Given the description of an element on the screen output the (x, y) to click on. 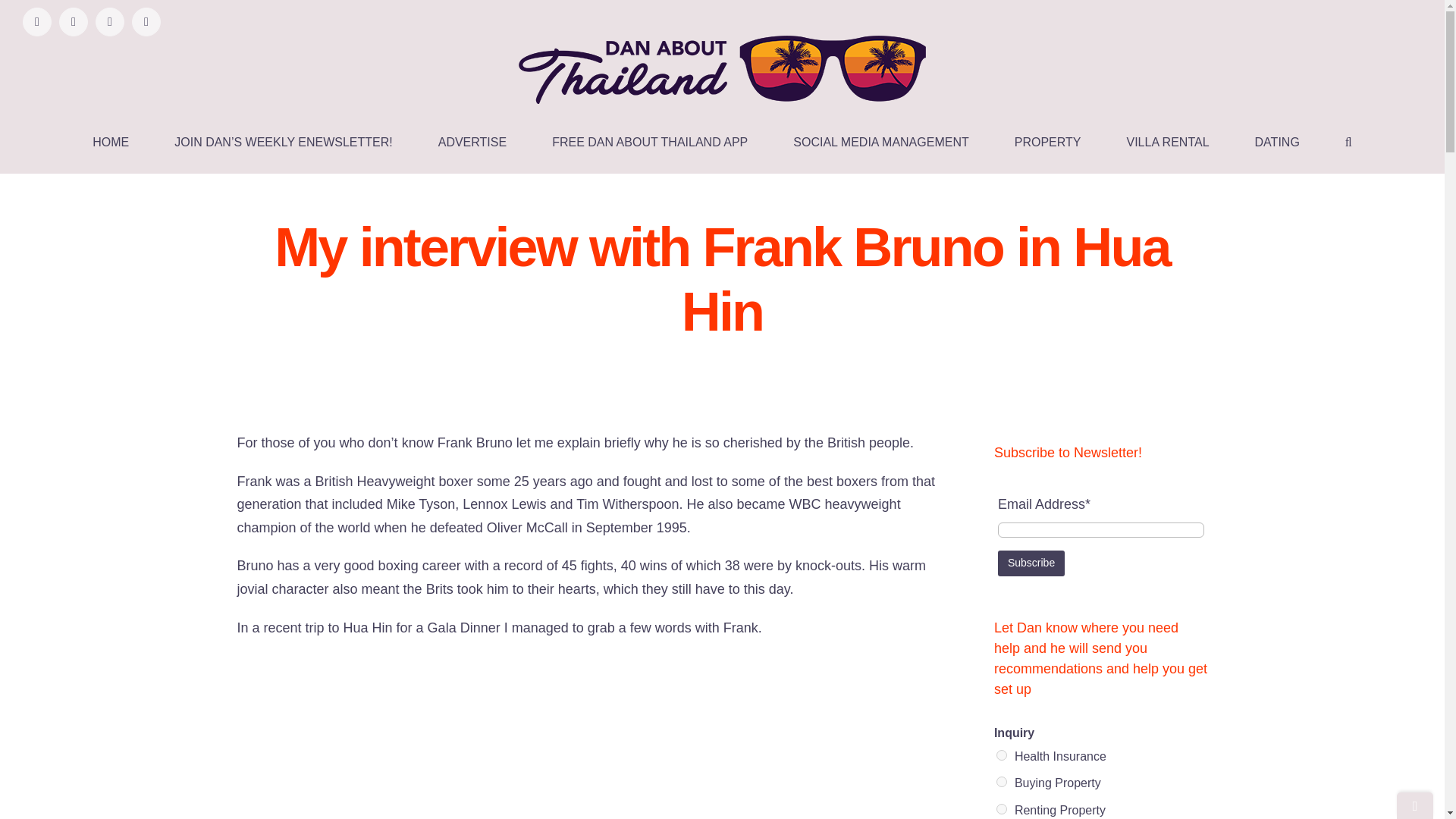
Renting Property (1001, 808)
SOCIAL MEDIA MANAGEMENT (880, 142)
Buying Property (1001, 781)
PROPERTY (1047, 142)
Facebook (36, 21)
ADVERTISE (472, 142)
Facebook (36, 21)
FREE DAN ABOUT THAILAND APP (649, 142)
Health Insurance (1001, 755)
VILLA RENTAL (1166, 142)
Instagram (146, 21)
YouTube player (595, 736)
Instagram (146, 21)
Twitter (109, 21)
YouTube (73, 21)
